Given the description of an element on the screen output the (x, y) to click on. 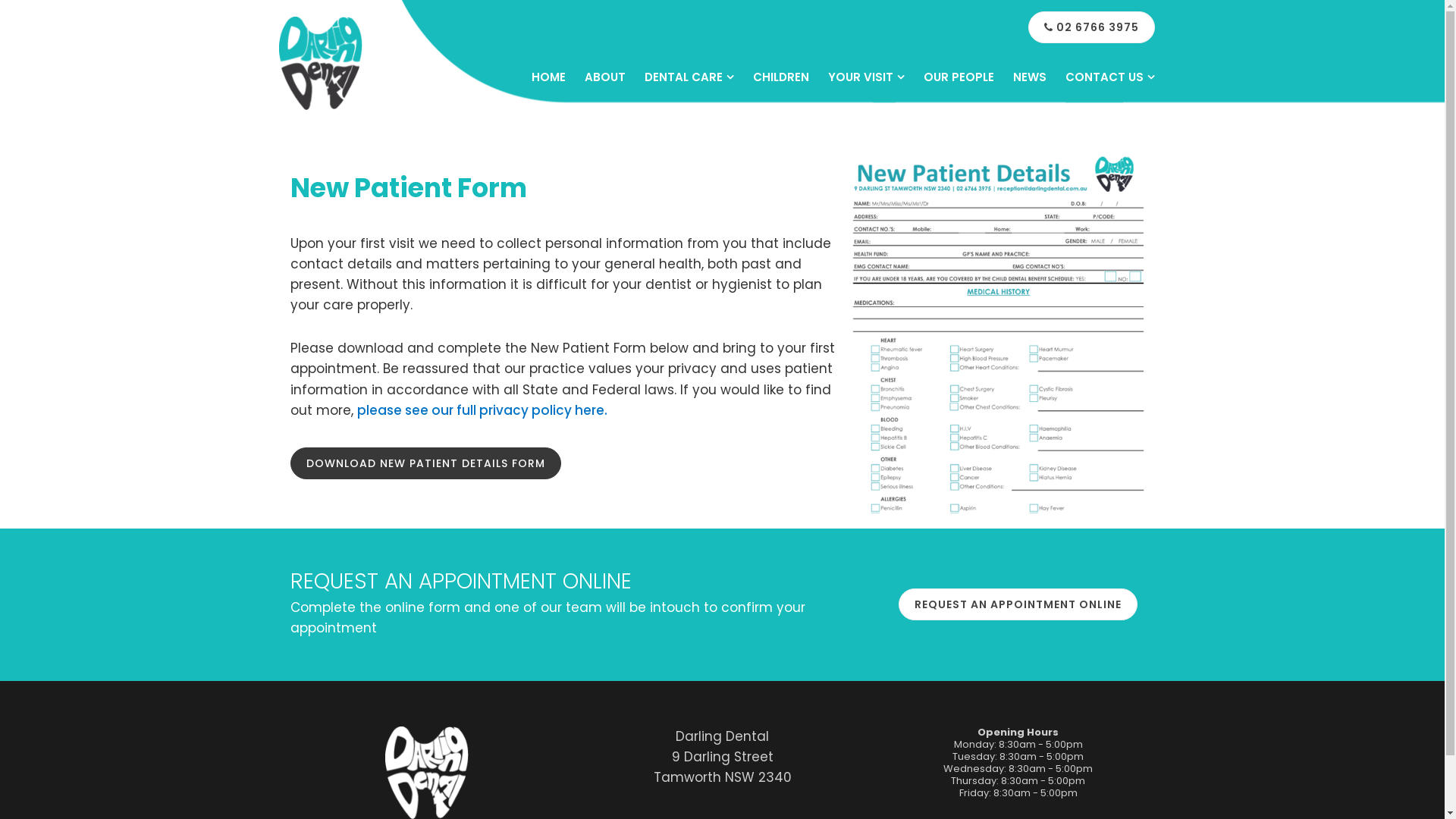
NEWS Element type: text (1029, 76)
DOWNLOAD NEW PATIENT DETAILS FORM Element type: text (424, 463)
OUR PEOPLE Element type: text (958, 76)
ABOUT Element type: text (603, 76)
please see our full privacy policy here.  Element type: text (482, 410)
REQUEST AN APPOINTMENT ONLINE Element type: text (1017, 604)
HOME Element type: text (547, 76)
DENTAL CARE Element type: text (689, 76)
YOUR VISIT Element type: text (866, 76)
CHILDREN Element type: text (780, 76)
CONTACT US Element type: text (1109, 76)
02 6766 3975 Element type: text (1091, 27)
